Given the description of an element on the screen output the (x, y) to click on. 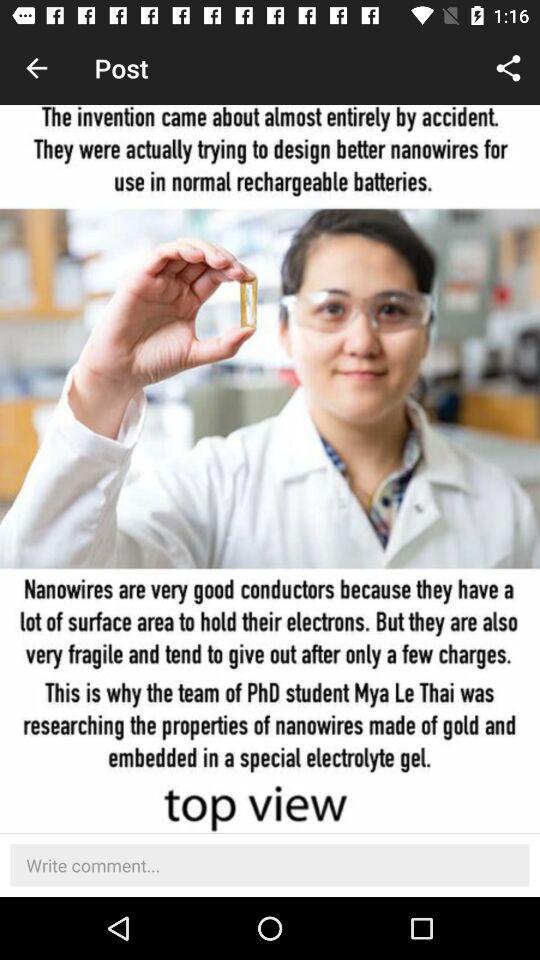
turn on icon next to post icon (508, 67)
